Given the description of an element on the screen output the (x, y) to click on. 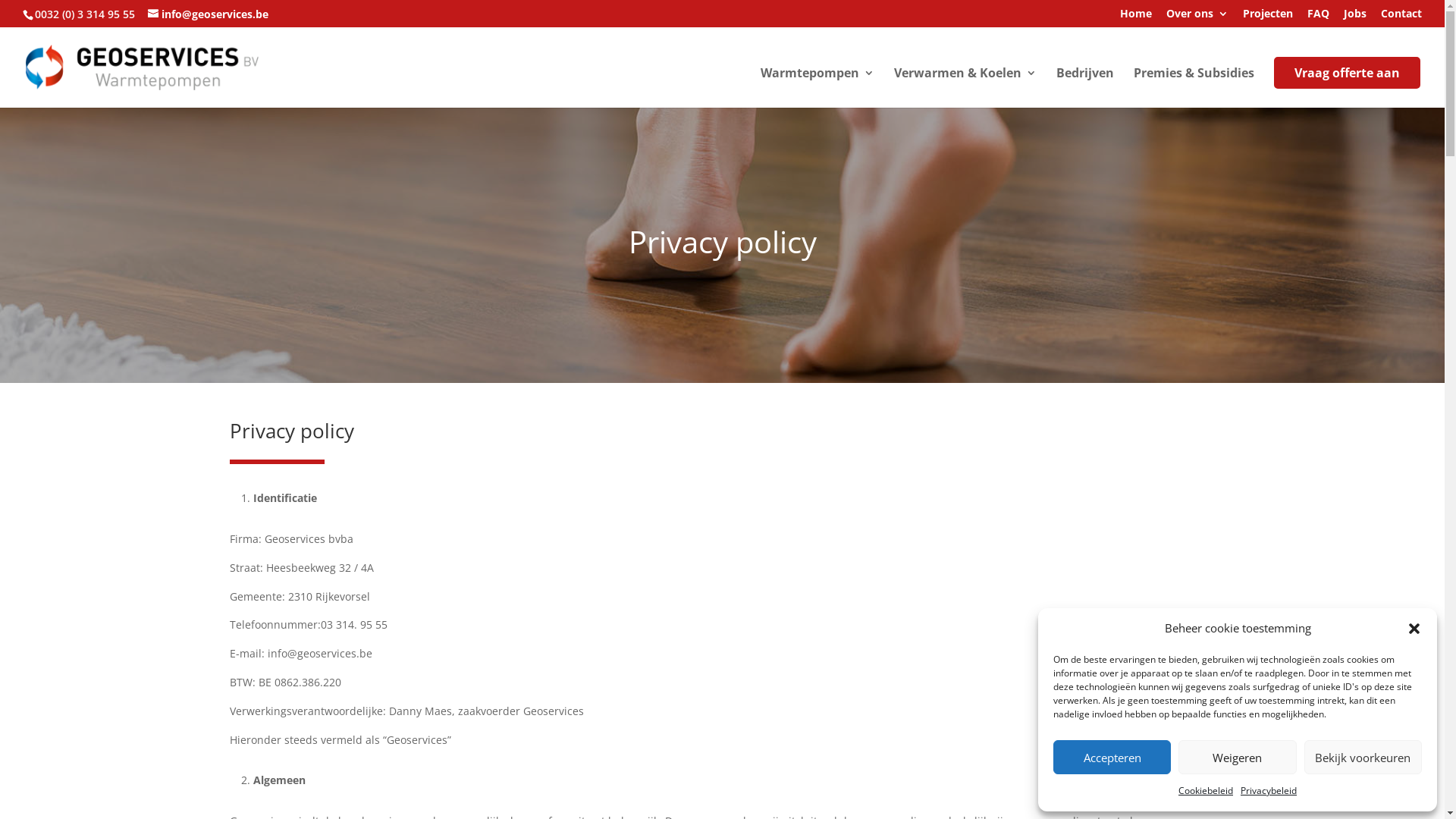
Over ons Element type: text (1197, 16)
info@geoservices.be Element type: text (207, 13)
Contact Element type: text (1400, 16)
Home Element type: text (1135, 16)
Cookiebeleid Element type: text (1205, 790)
FAQ Element type: text (1318, 16)
Verwarmen & Koelen Element type: text (965, 87)
Privacybeleid Element type: text (1268, 790)
Accepteren Element type: text (1111, 757)
Vraag offerte aan Element type: text (1346, 72)
Jobs Element type: text (1354, 16)
Projecten Element type: text (1267, 16)
Warmtepompen Element type: text (817, 87)
Weigeren Element type: text (1236, 757)
Premies & Subsidies Element type: text (1193, 87)
Bedrijven Element type: text (1084, 87)
Bekijk voorkeuren Element type: text (1362, 757)
